Given the description of an element on the screen output the (x, y) to click on. 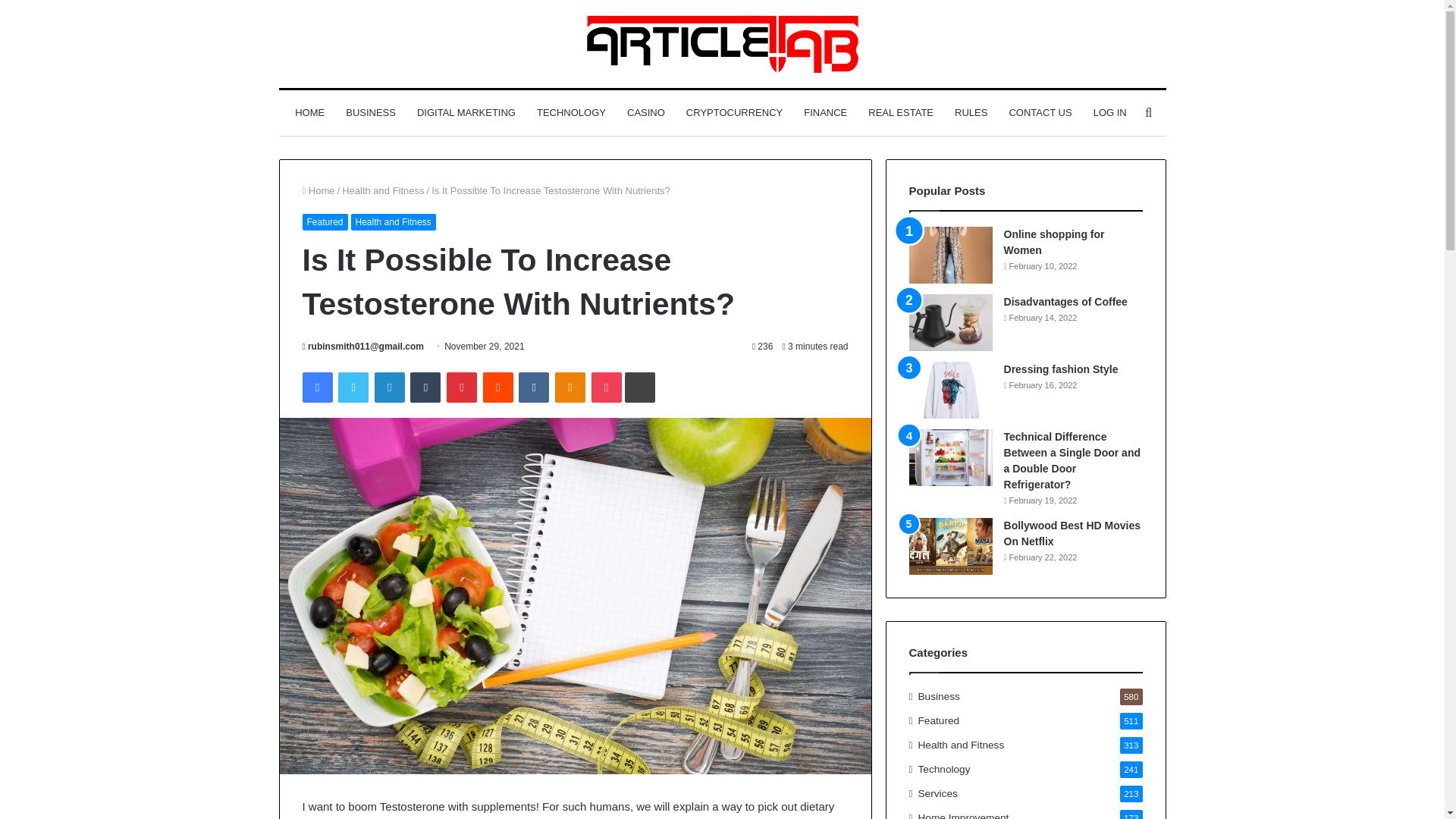
LOG IN (1110, 112)
LinkedIn (389, 387)
CONTACT US (1039, 112)
VKontakte (533, 387)
HOME (308, 112)
Facebook (316, 387)
Twitter (352, 387)
Pinterest (461, 387)
Reddit (498, 387)
CASINO (645, 112)
TECHNOLOGY (570, 112)
Twitter (352, 387)
Home (317, 190)
BUSINESS (370, 112)
Search for (1148, 112)
